Given the description of an element on the screen output the (x, y) to click on. 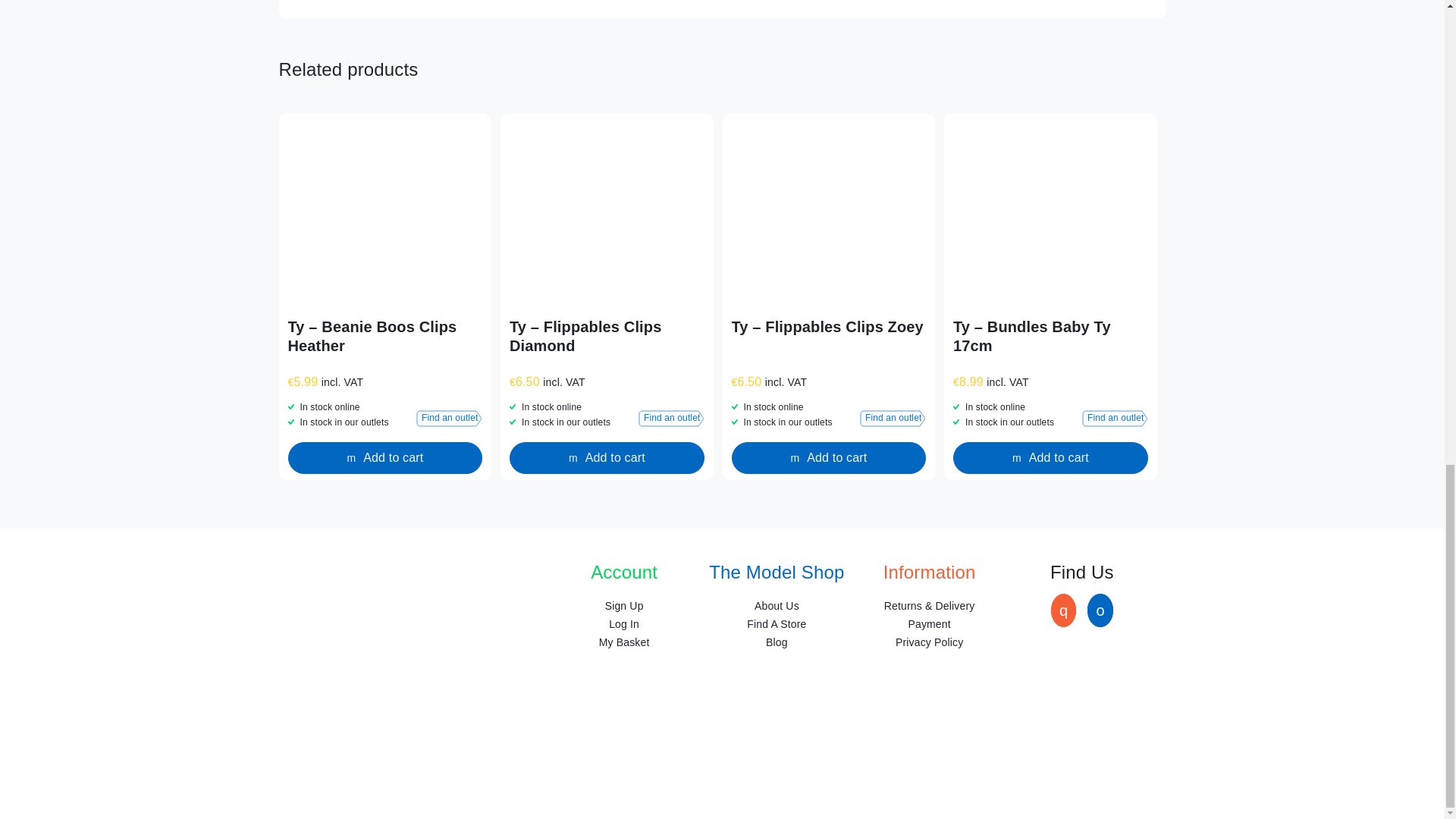
Find an outlet (671, 418)
Find an outlet (1114, 418)
Find an outlet (448, 418)
Find an outlet (893, 418)
